Given the description of an element on the screen output the (x, y) to click on. 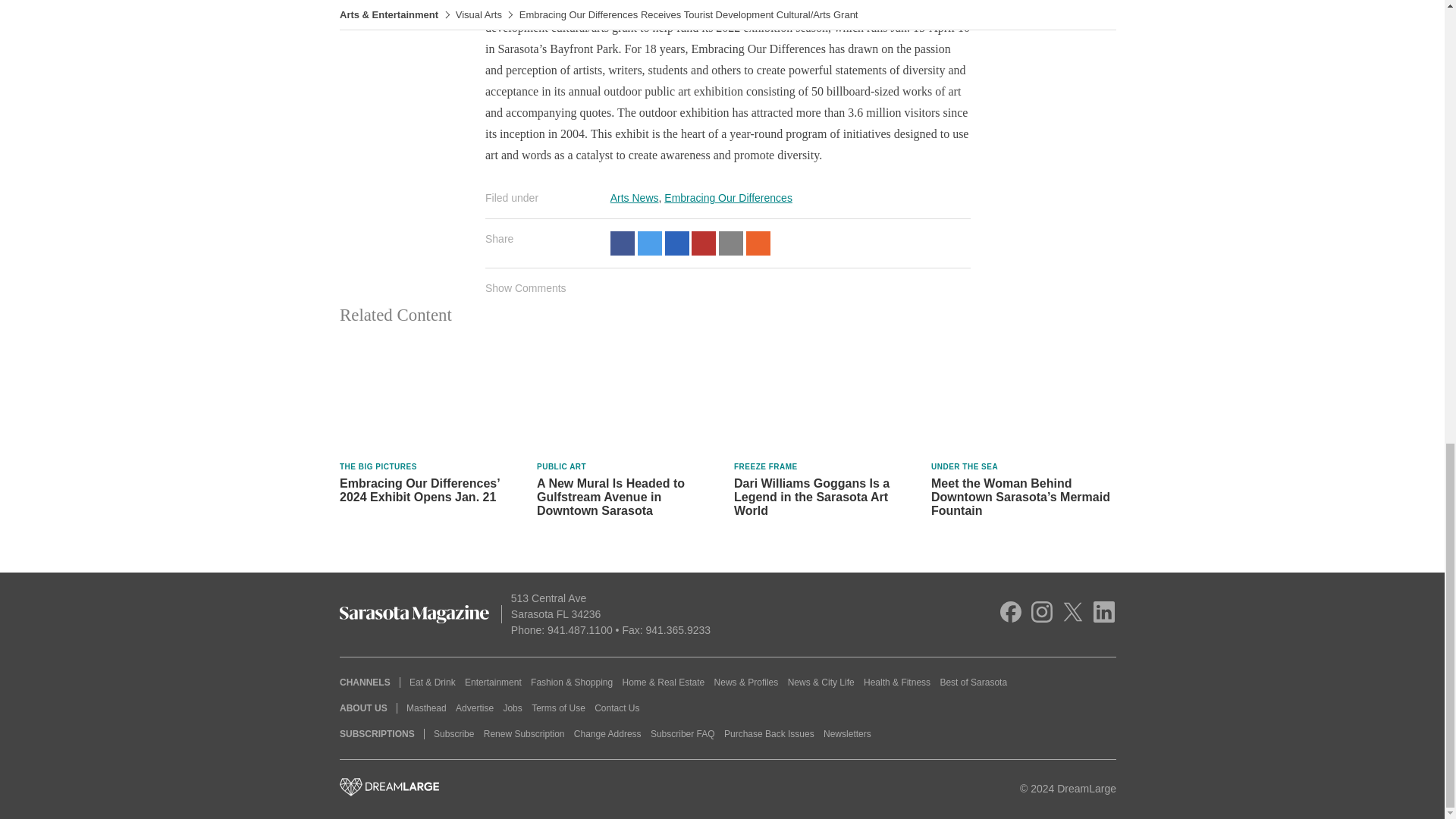
Share on LinkedIn (675, 242)
Share on Pinterest (703, 242)
Share via Email (730, 242)
Share on Reddit (757, 242)
Share on Facebook (622, 242)
Share on Twitter (649, 242)
